Given the description of an element on the screen output the (x, y) to click on. 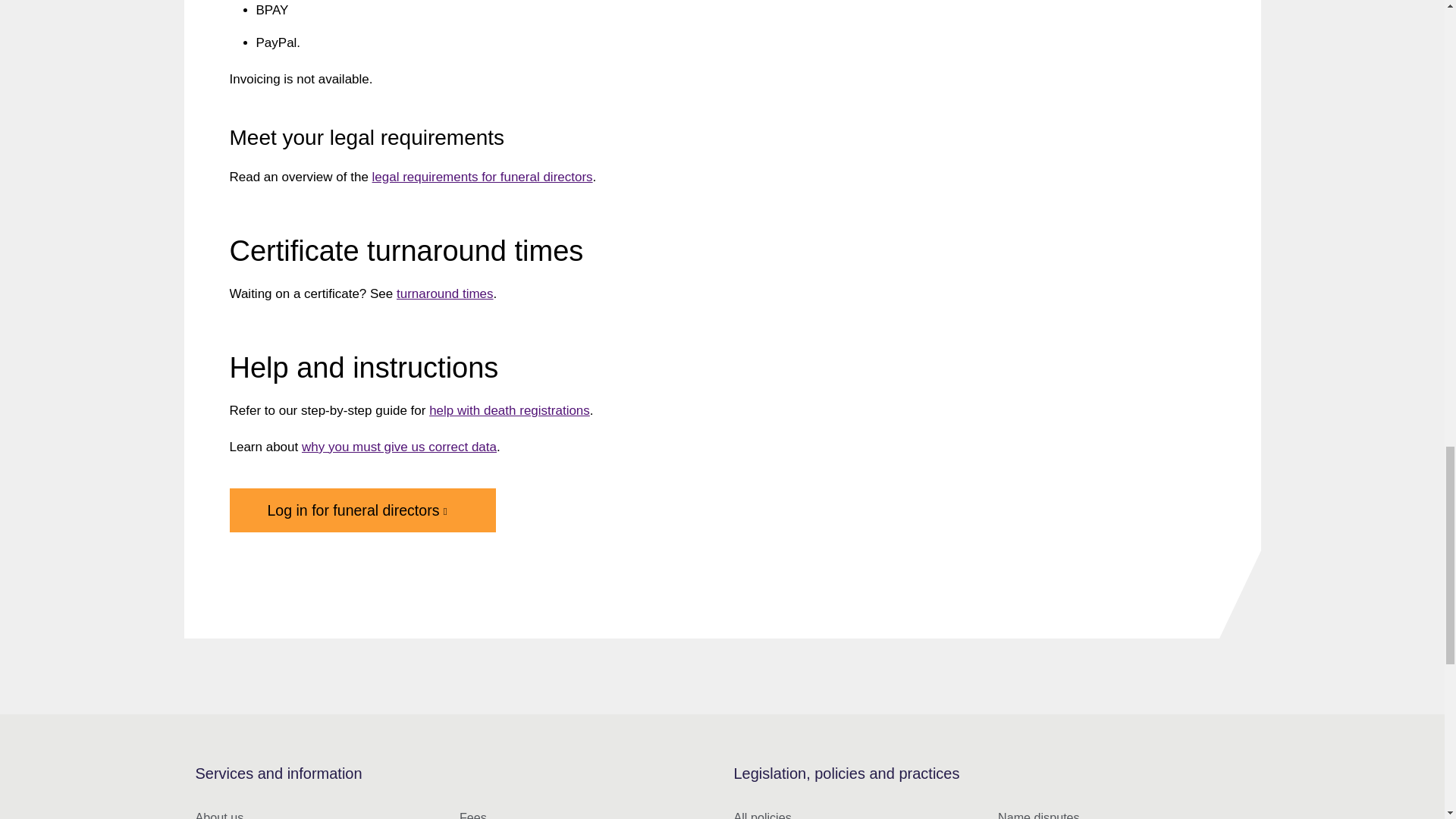
Legal requirements for funeral directors (482, 176)
Why you must give us correct and timely data (398, 446)
Help with death registrations (509, 410)
Certificate turnaround times (444, 293)
